Given the description of an element on the screen output the (x, y) to click on. 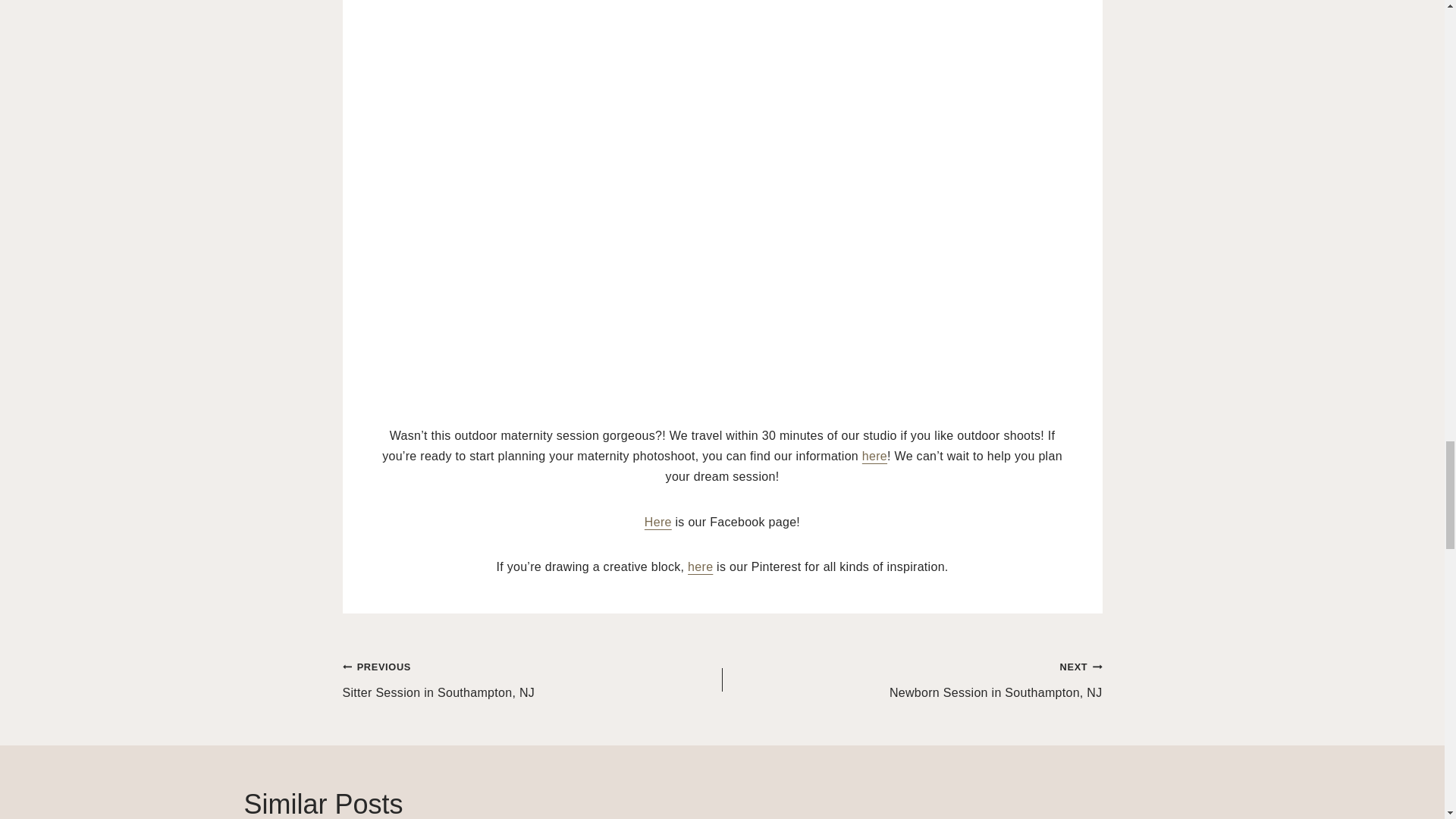
here (912, 679)
here (873, 455)
Here (700, 566)
